Given the description of an element on the screen output the (x, y) to click on. 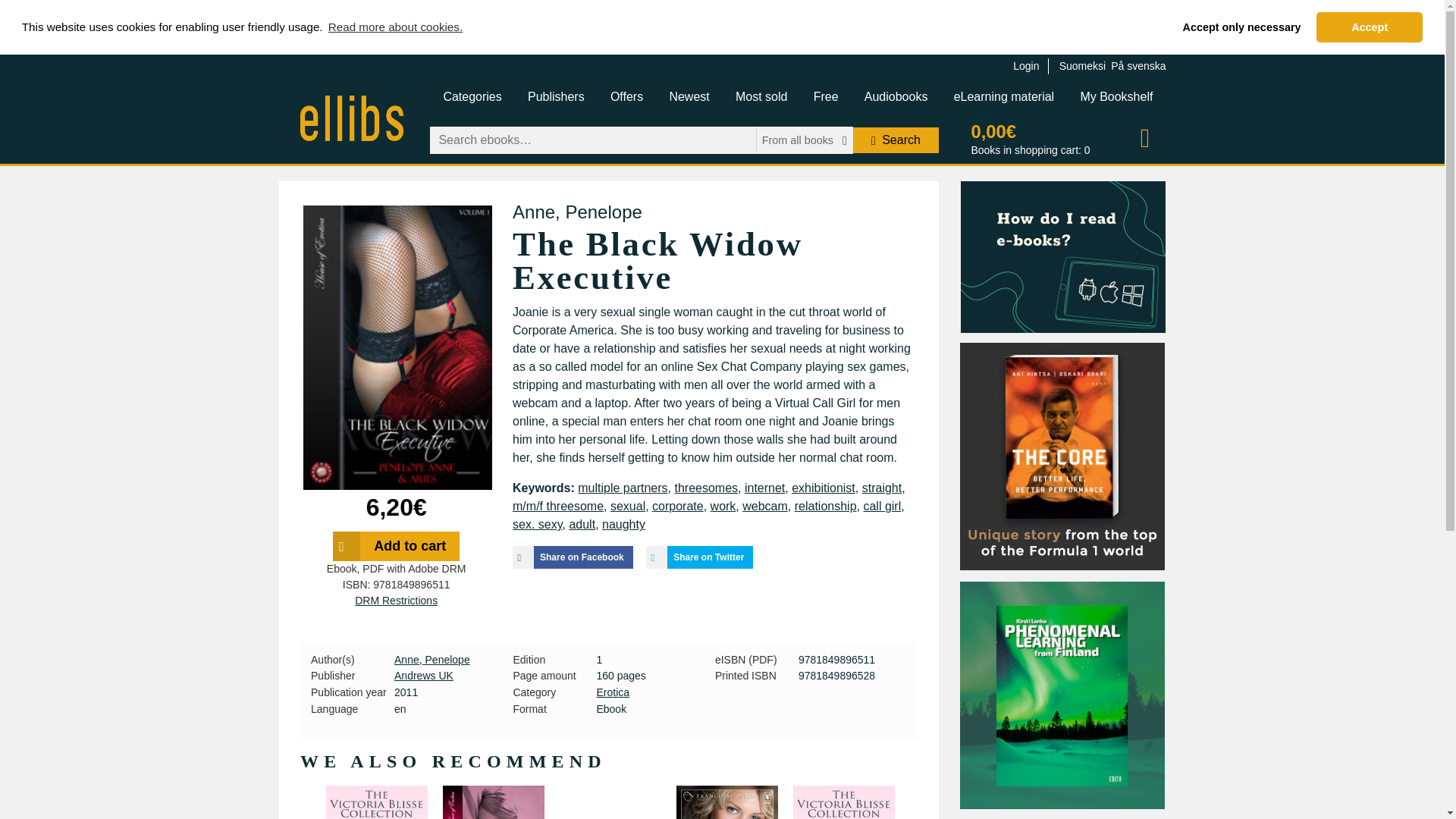
My Bookshelf (1116, 97)
sex. sexy (537, 523)
DRM Restrictions (396, 600)
Offers (626, 97)
multiple partners (622, 487)
Add to cart (396, 546)
Categories (472, 97)
Suomeksi (1082, 65)
relationship (825, 505)
Delon, Francoise - L'Histoire de Francoise, ebook (727, 802)
